Given the description of an element on the screen output the (x, y) to click on. 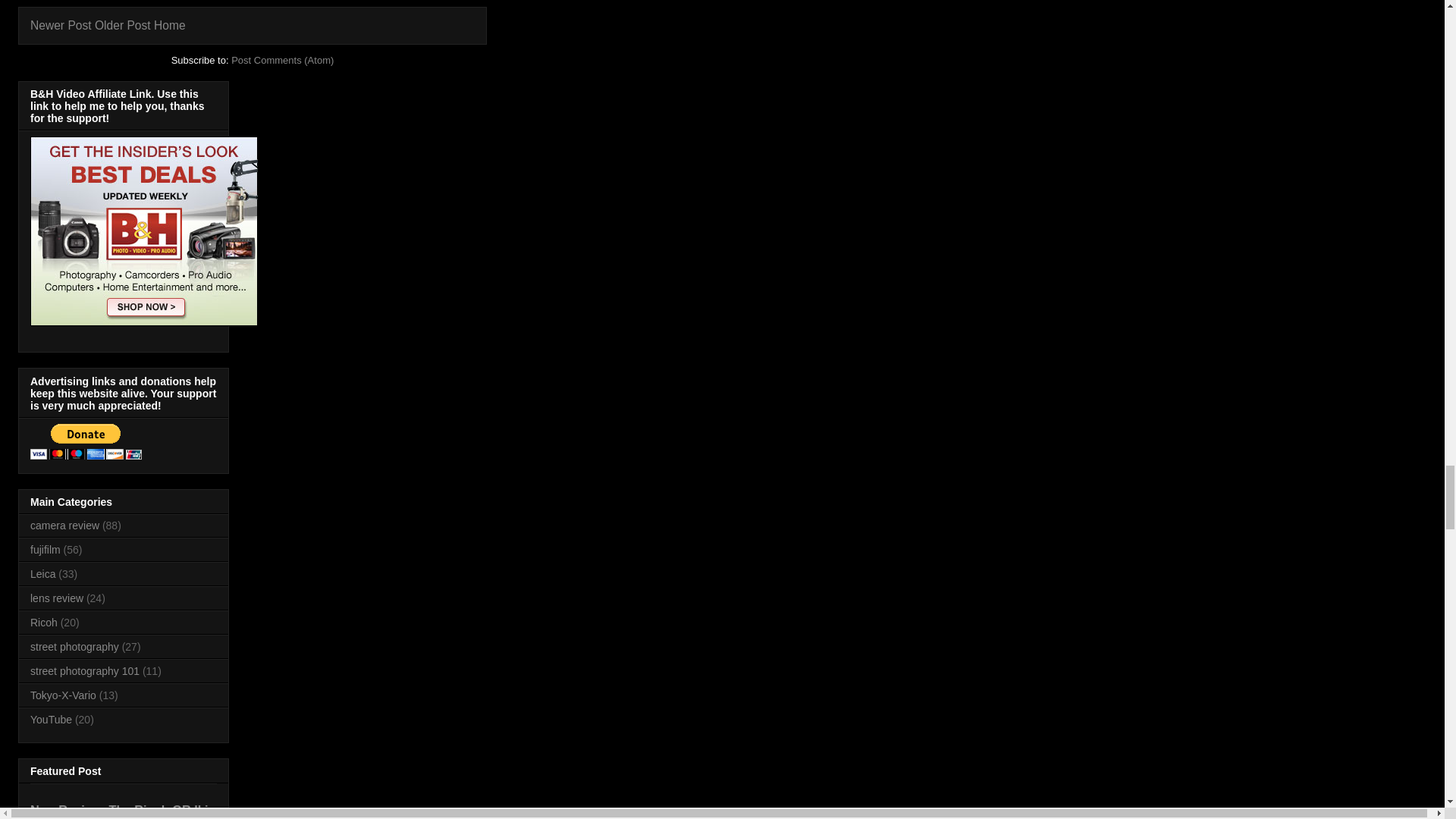
Leica (42, 573)
Newer Post (60, 24)
Home (170, 24)
Ricoh (44, 622)
Older Post (122, 24)
fujifilm (45, 549)
Newer Post (60, 24)
lens review (56, 598)
Older Post (122, 24)
camera review (64, 525)
